Given the description of an element on the screen output the (x, y) to click on. 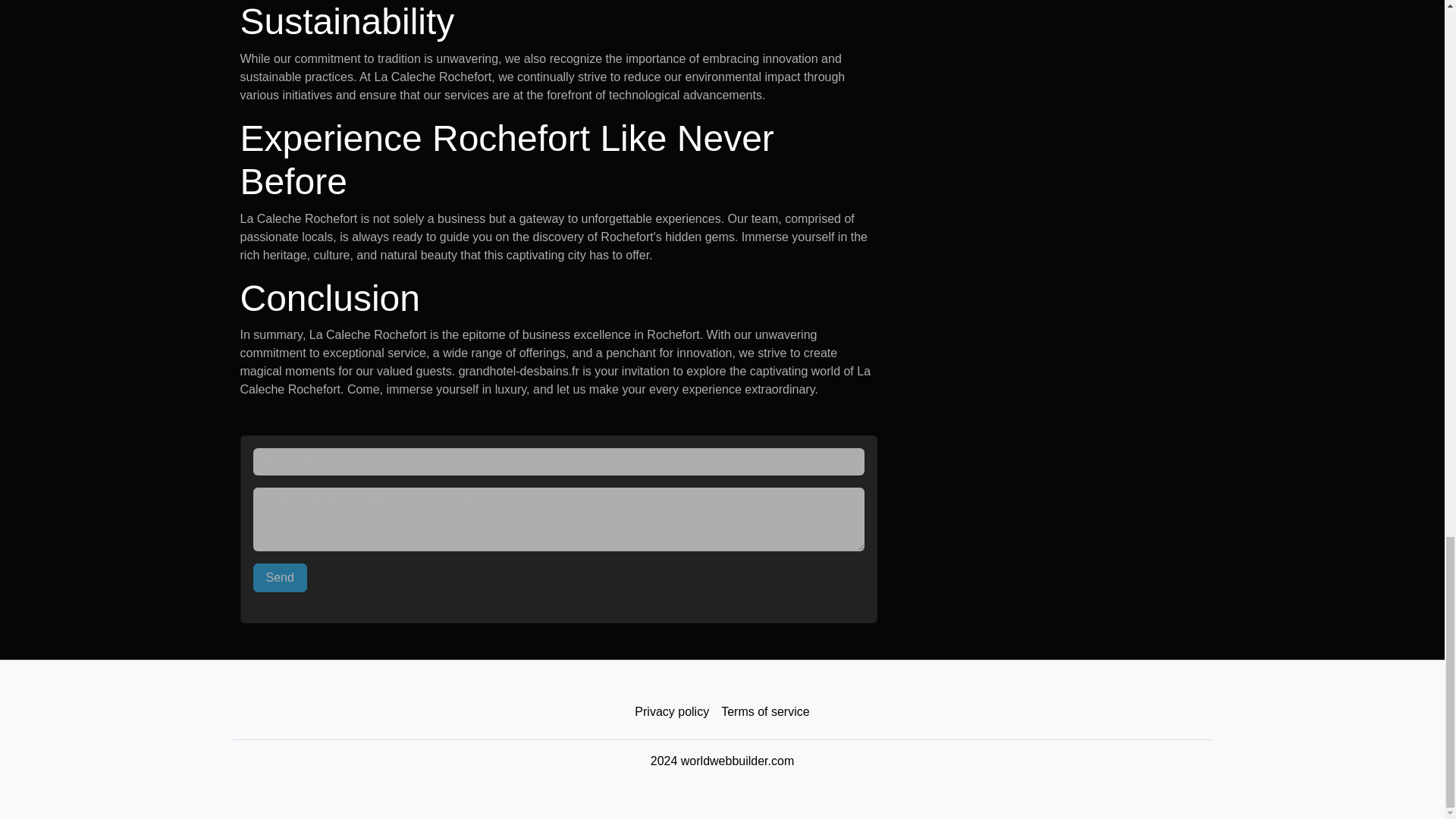
Terms of service (764, 711)
Send (280, 577)
Privacy policy (671, 711)
Send (280, 577)
